Given the description of an element on the screen output the (x, y) to click on. 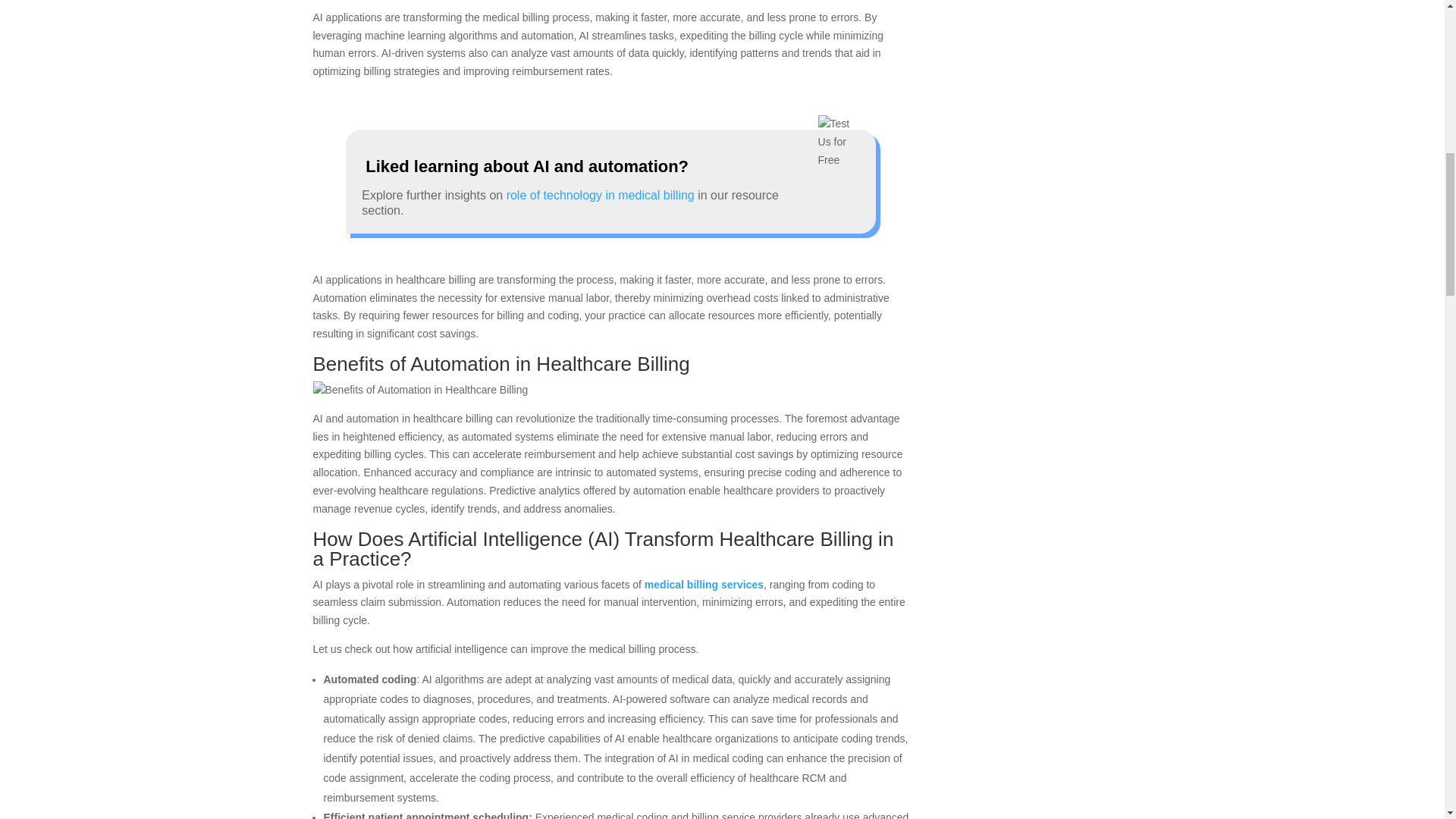
Role of Technology in Medical Billing (600, 195)
medical billing services (703, 583)
role of technology in medical billing (600, 195)
Medical Billing Services (703, 583)
Benefits of Automation in Healthcare Billing (420, 390)
